Given the description of an element on the screen output the (x, y) to click on. 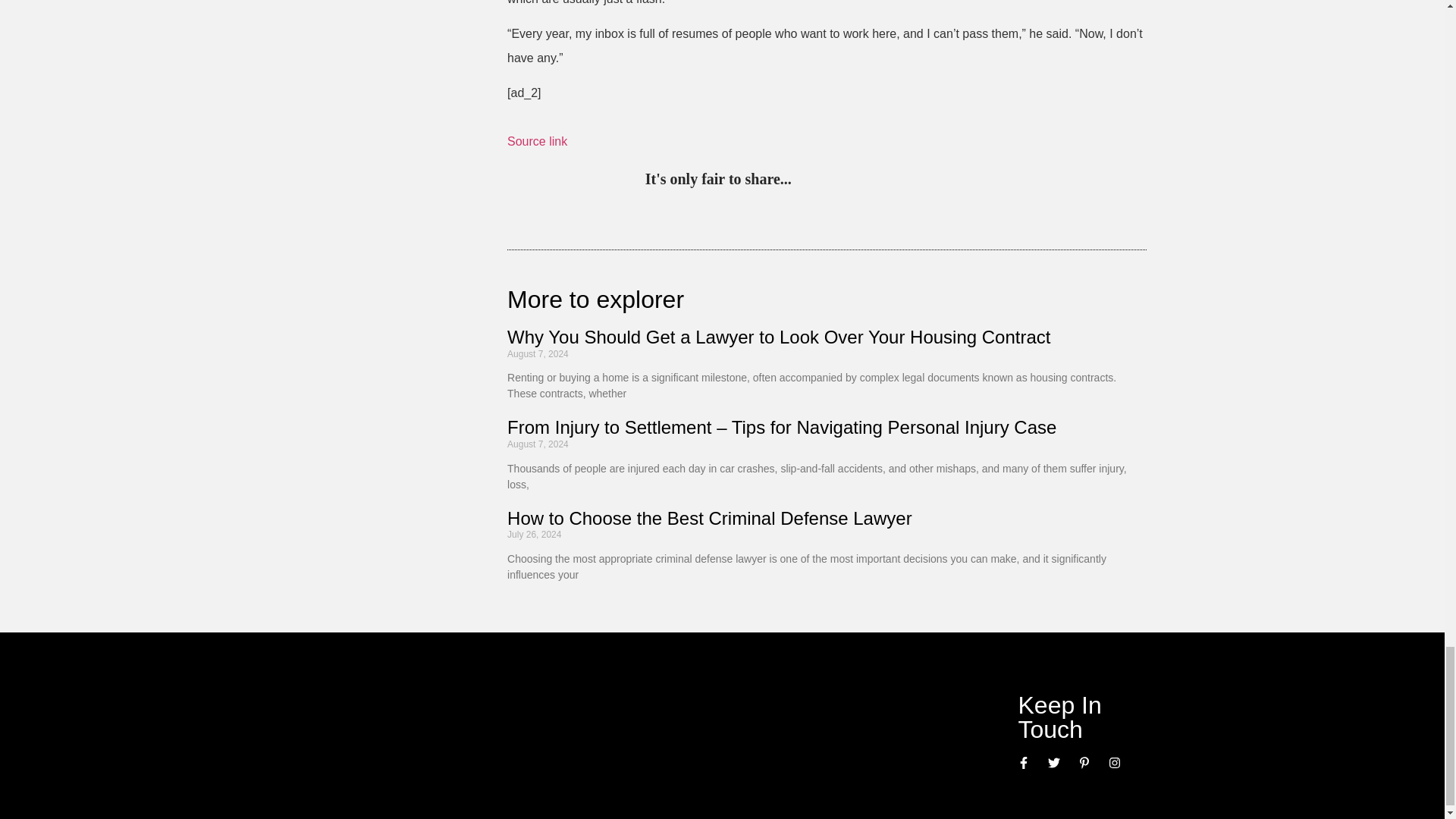
google (900, 180)
facebook (931, 180)
twitter (837, 180)
pinterest (807, 180)
email (962, 180)
print (993, 180)
Source link (536, 141)
linkedin (869, 180)
How to Choose the Best Criminal Defense Lawyer  (711, 517)
